Given the description of an element on the screen output the (x, y) to click on. 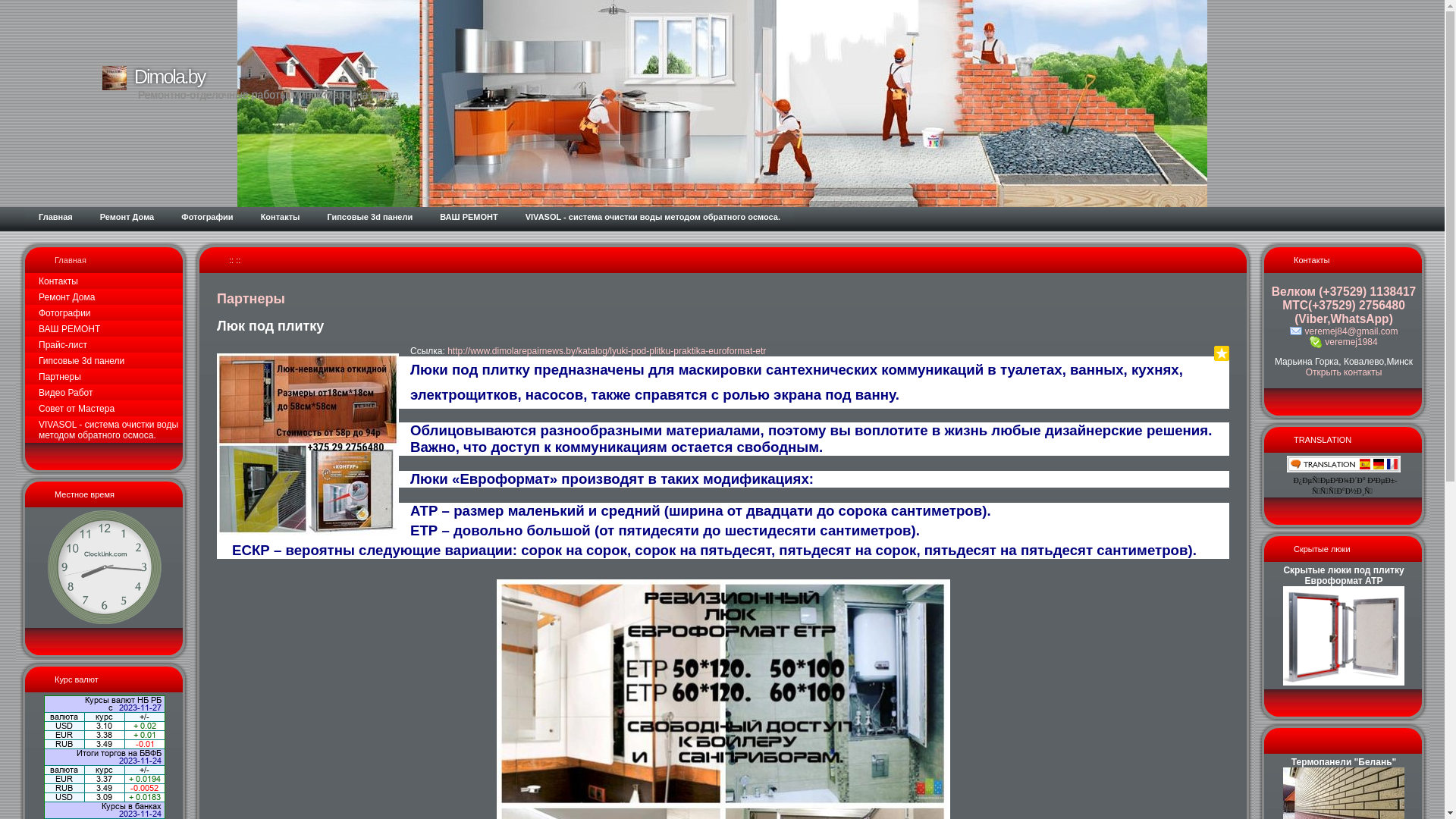
veremej84@gmail.com Element type: text (1343, 331)
veremej1984 Element type: text (1343, 341)
